Given the description of an element on the screen output the (x, y) to click on. 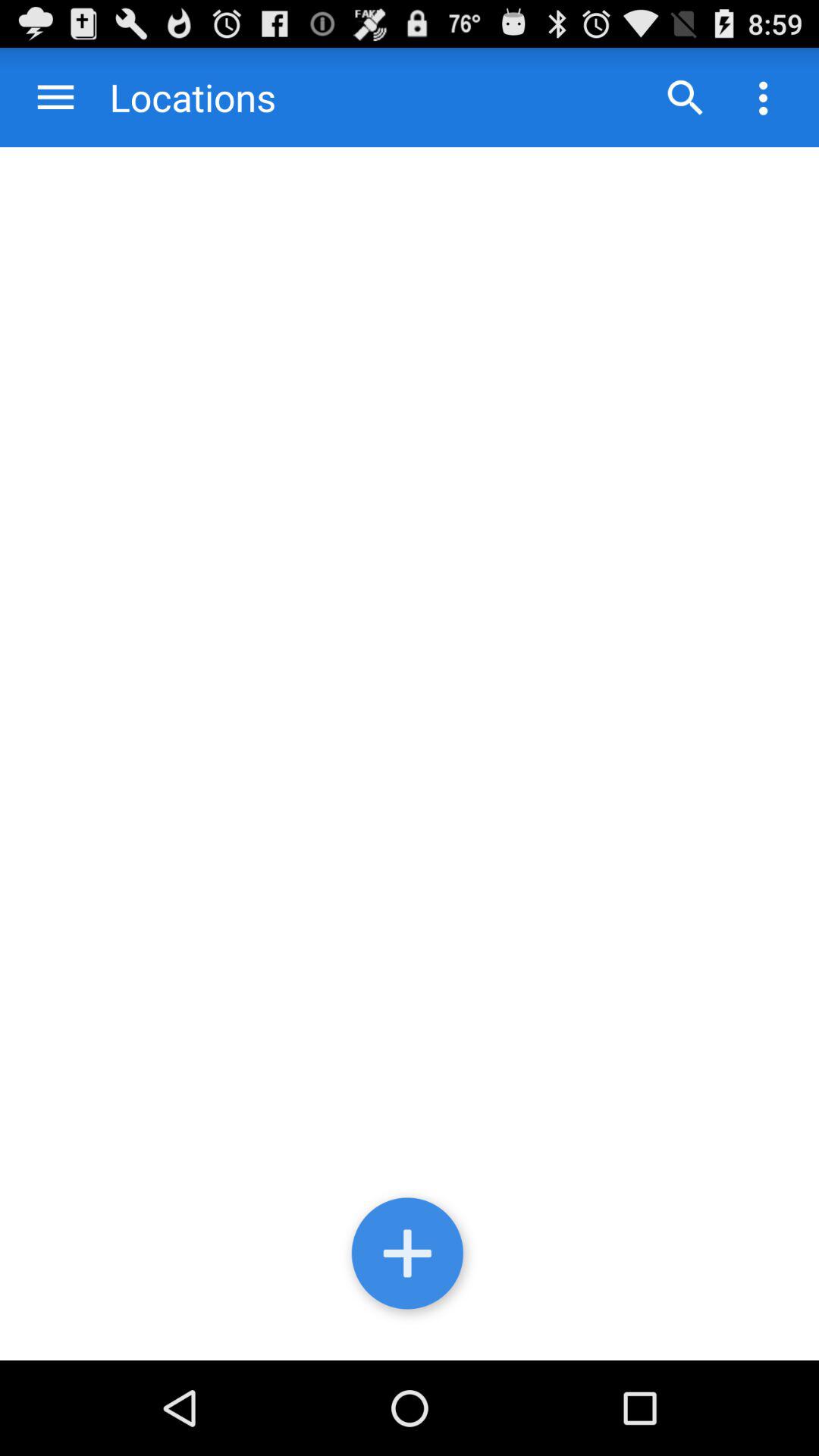
add location (409, 1256)
